Given the description of an element on the screen output the (x, y) to click on. 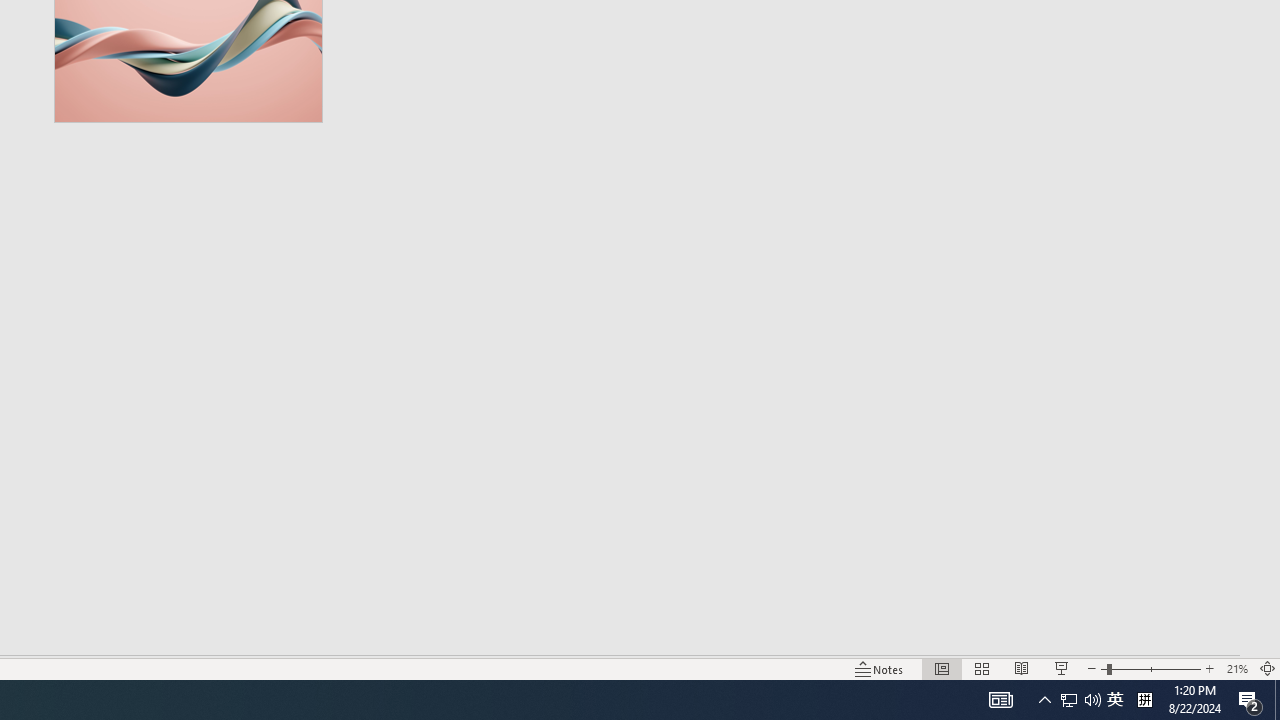
Zoom 21% (1236, 668)
